Given the description of an element on the screen output the (x, y) to click on. 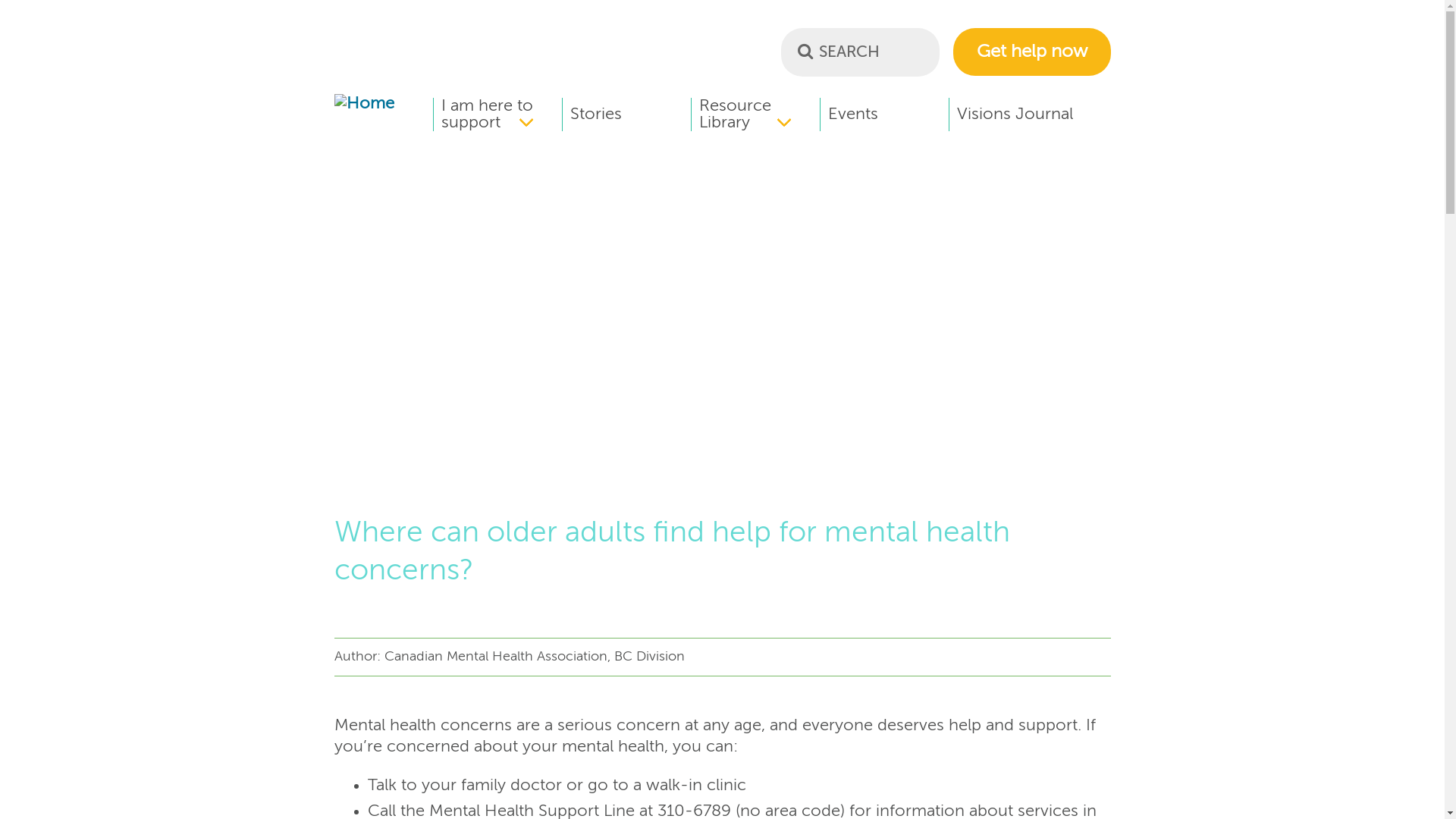
Resource Library Element type: text (759, 114)
Enter the terms you wish to search for. Element type: hover (860, 52)
Events Element type: text (883, 114)
Home Element type: hover (363, 103)
Skip to main content Element type: text (0, 0)
Get help now Element type: text (1031, 51)
I am here to support Element type: text (501, 114)
Search Element type: text (805, 50)
Visions Journal Element type: text (1011, 114)
Stories Element type: text (625, 114)
